Given the description of an element on the screen output the (x, y) to click on. 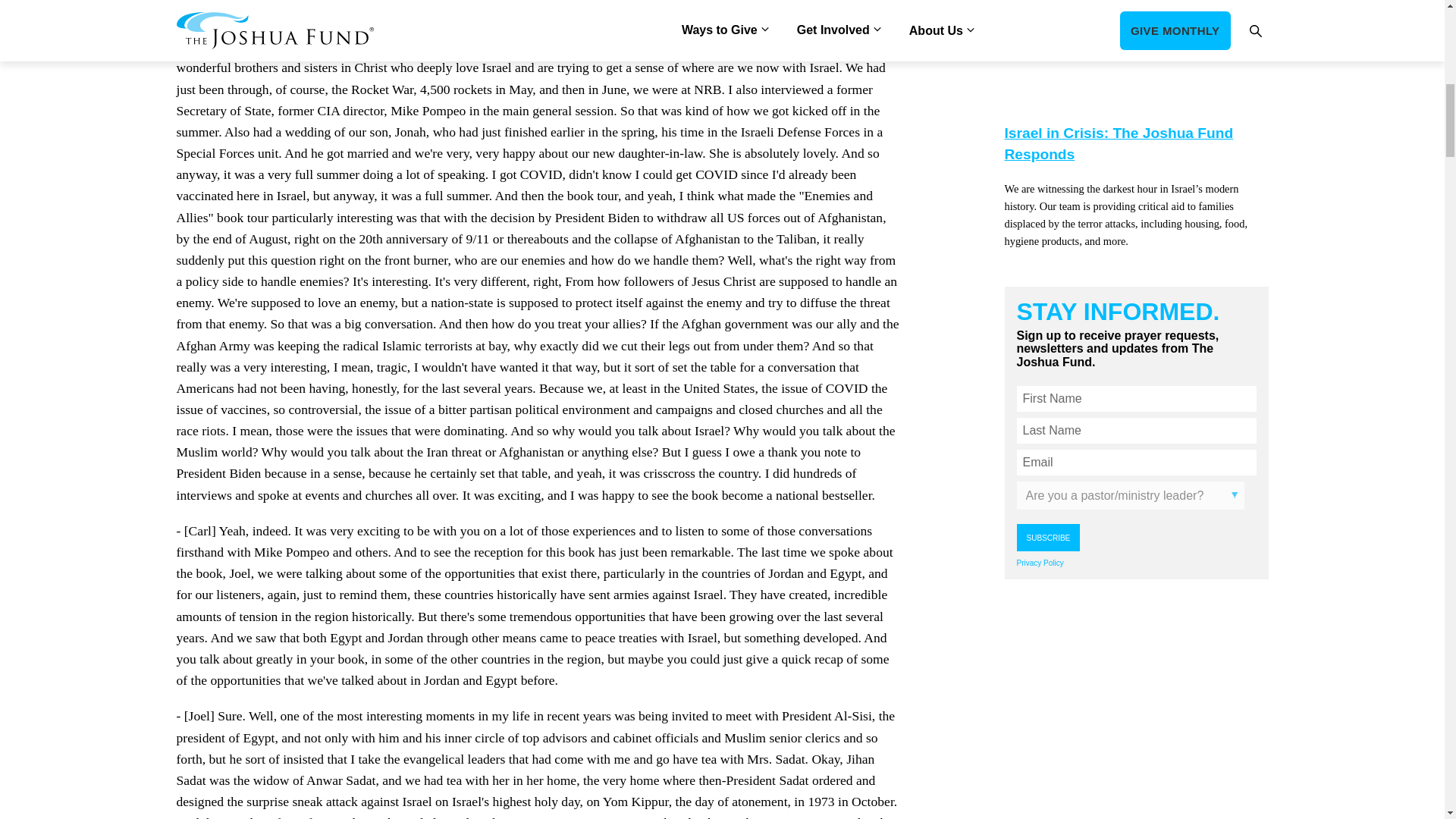
Subscribe (1048, 537)
